Given the description of an element on the screen output the (x, y) to click on. 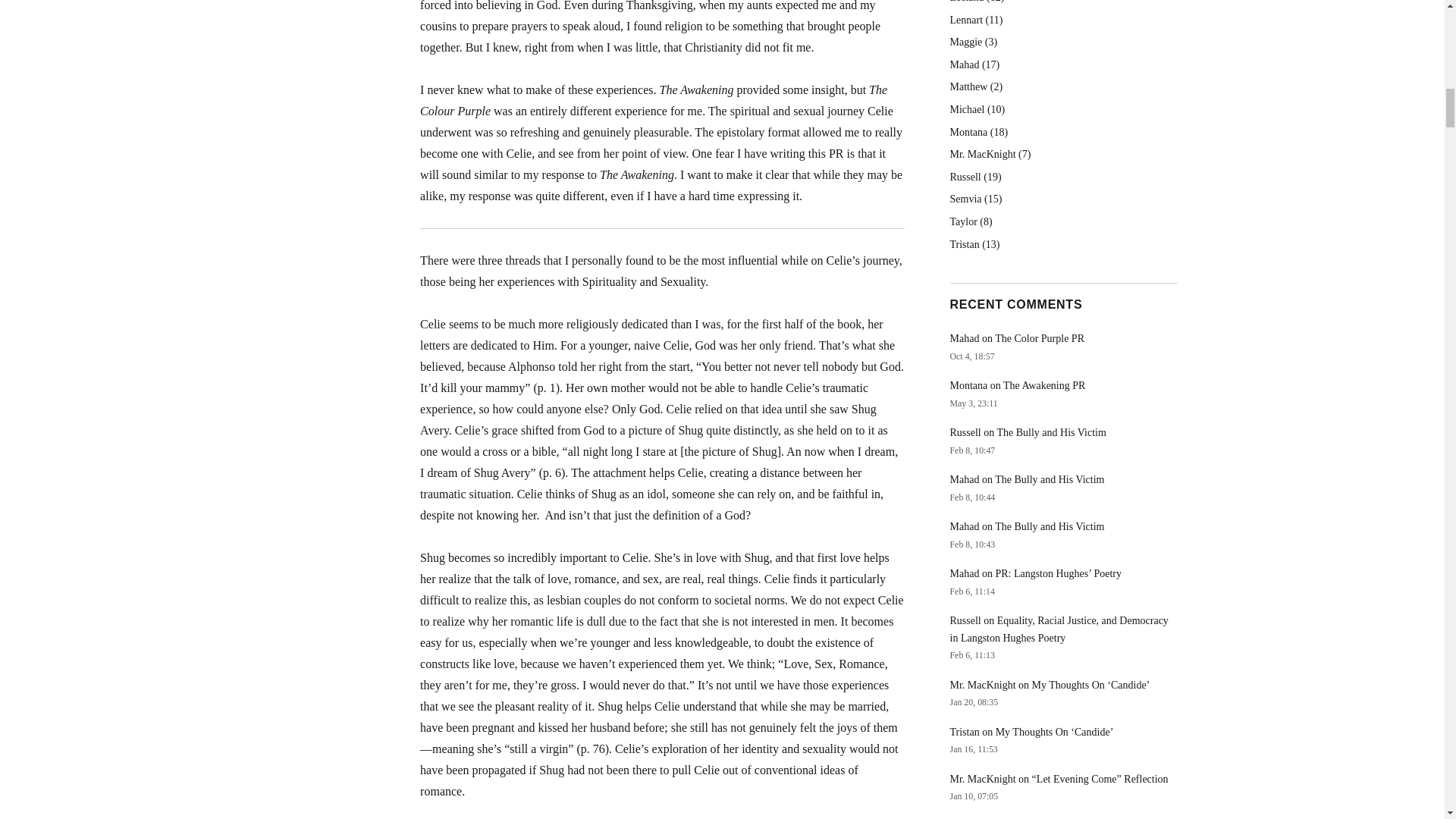
Posts by Matthew (968, 86)
Posts by Mahad (963, 64)
Posts by Michael (966, 109)
Posts by Montana (968, 132)
Posts by Maggie (965, 41)
Posts by Mr. MacKnight (981, 153)
Posts by Semvia (965, 198)
Posts by Russell (964, 176)
Posts by Lennart (965, 19)
Posts by Leeland (966, 1)
